Given the description of an element on the screen output the (x, y) to click on. 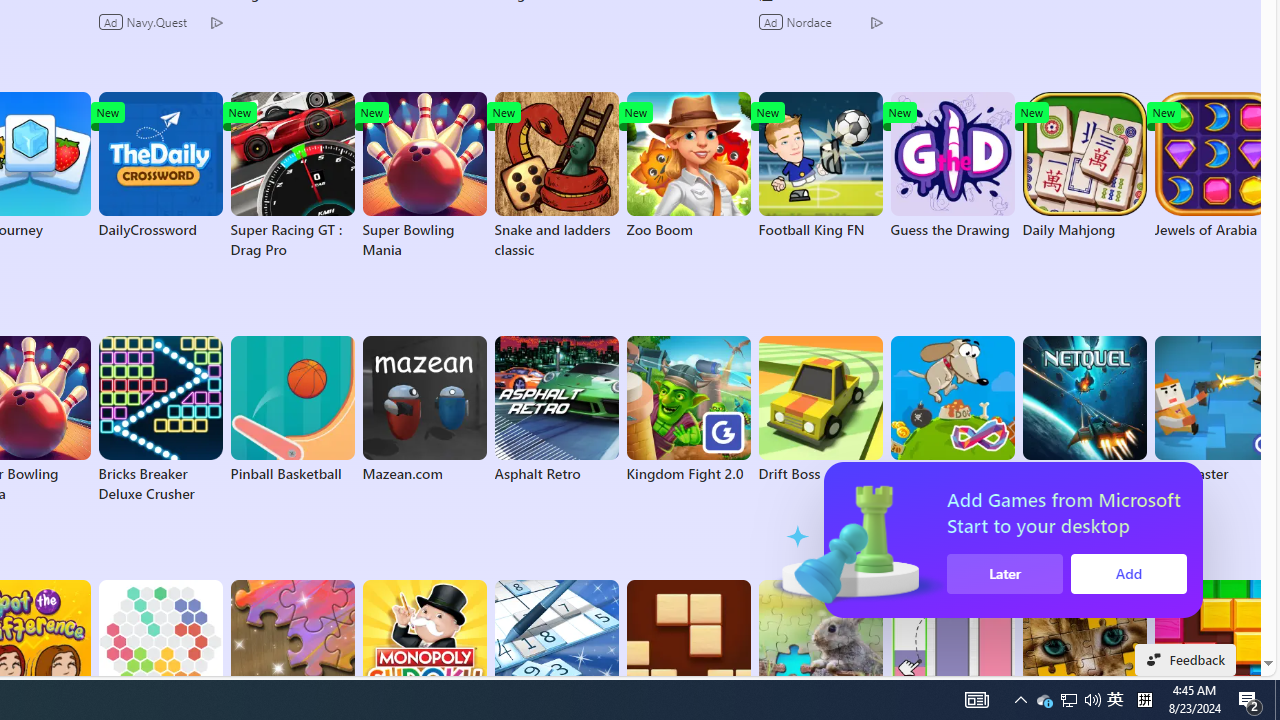
Super Bowling Mania (424, 175)
Class: ad-choice  ad-choice-mono  (876, 21)
Mazean.com (424, 409)
Jewels of Arabia (1216, 165)
Asphalt Retro (556, 409)
DailyCrossword (160, 165)
Snake and ladders classic (556, 175)
Drift Boss (820, 409)
Gun Master (1216, 409)
netquel.com (1083, 409)
Bricks Breaker Deluxe Crusher (160, 419)
Daily Mahjong (1083, 165)
Class: pwa-upsell-icon (1093, 539)
Kingdom Fight 2.0 (688, 409)
